Given the description of an element on the screen output the (x, y) to click on. 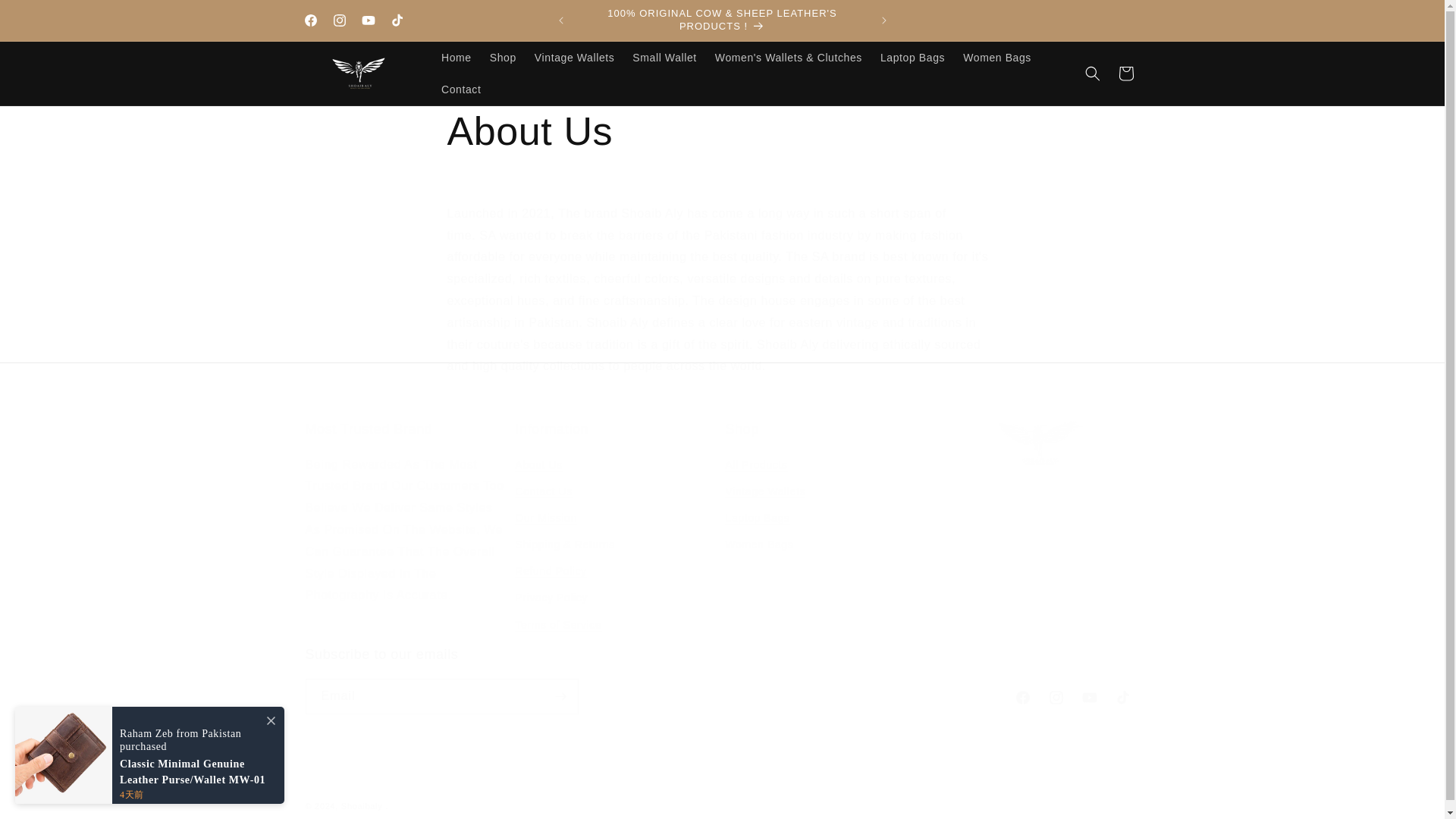
Contact (826, 529)
About Us (460, 89)
TikTok (721, 132)
Skip to content (395, 20)
Instagram (45, 17)
Women Bags (338, 20)
Small Wallet (997, 57)
Contact Us (663, 57)
